Given the description of an element on the screen output the (x, y) to click on. 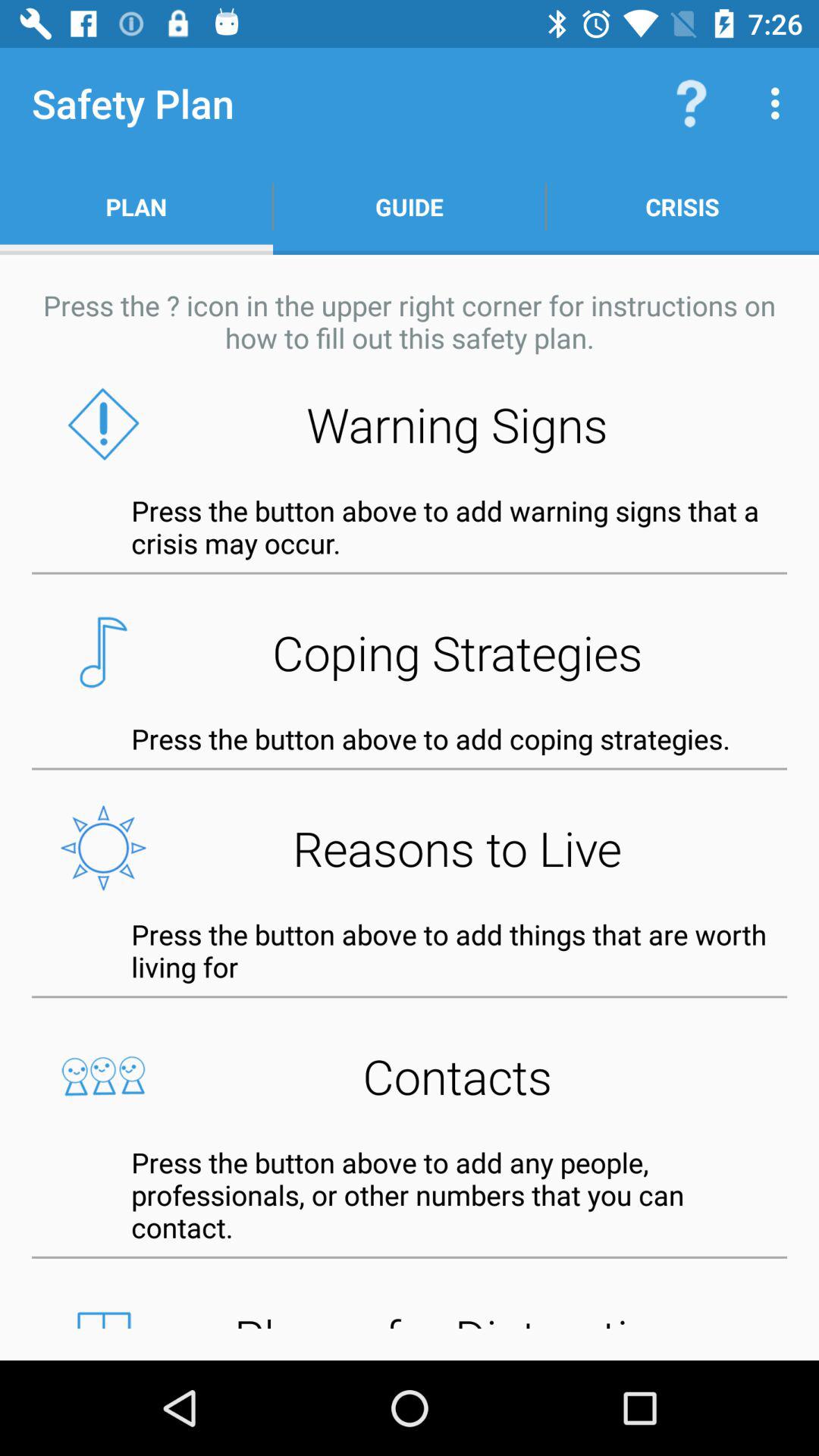
choose the app above press the button item (409, 847)
